Given the description of an element on the screen output the (x, y) to click on. 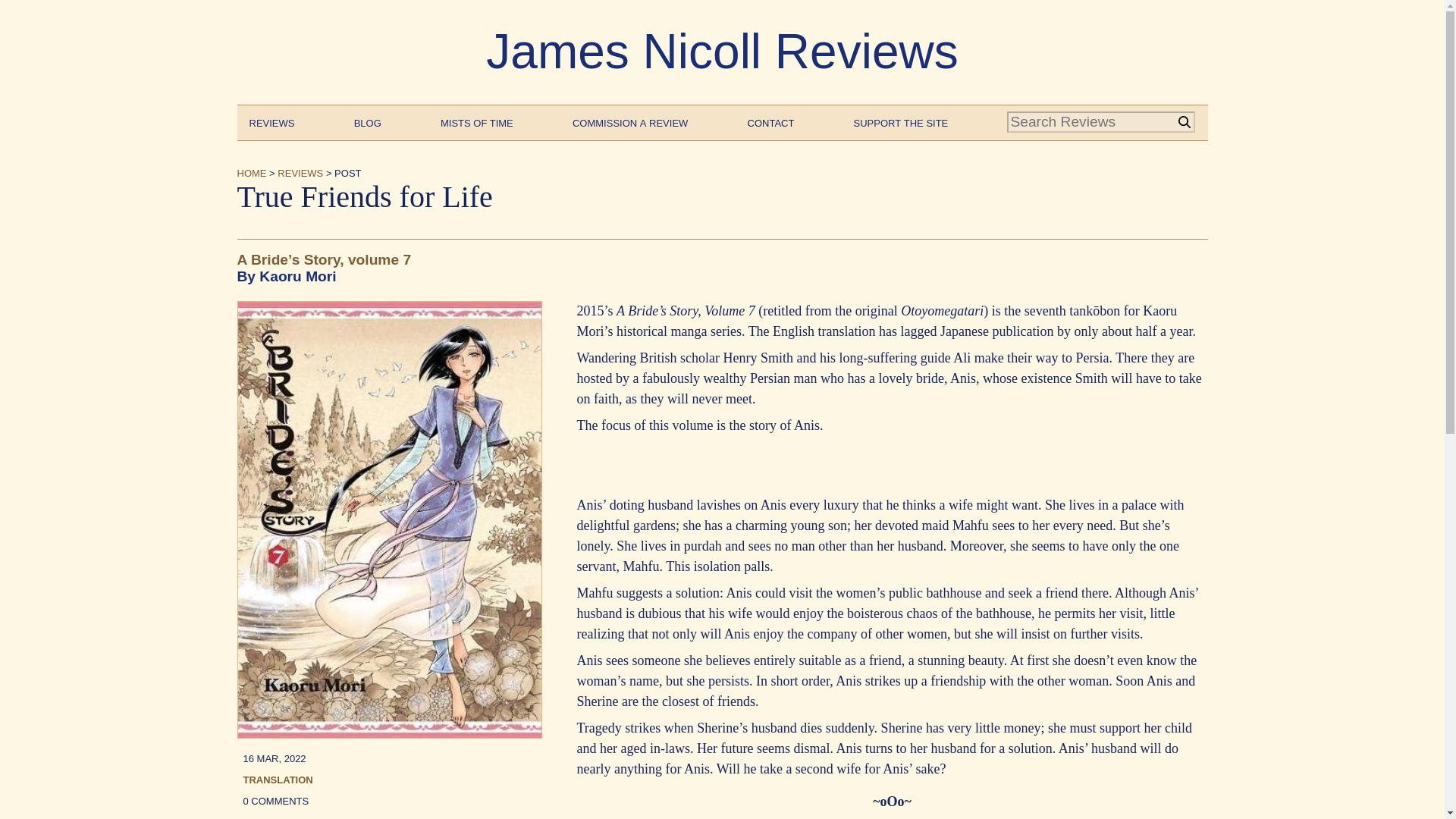
Translation (278, 778)
Support the Site (901, 121)
Blog (367, 121)
Commission a Review (629, 121)
Reviews (271, 121)
Home (250, 171)
Mists of Time (477, 121)
James Nicoll Reviews (722, 51)
Reviews (300, 171)
